Given the description of an element on the screen output the (x, y) to click on. 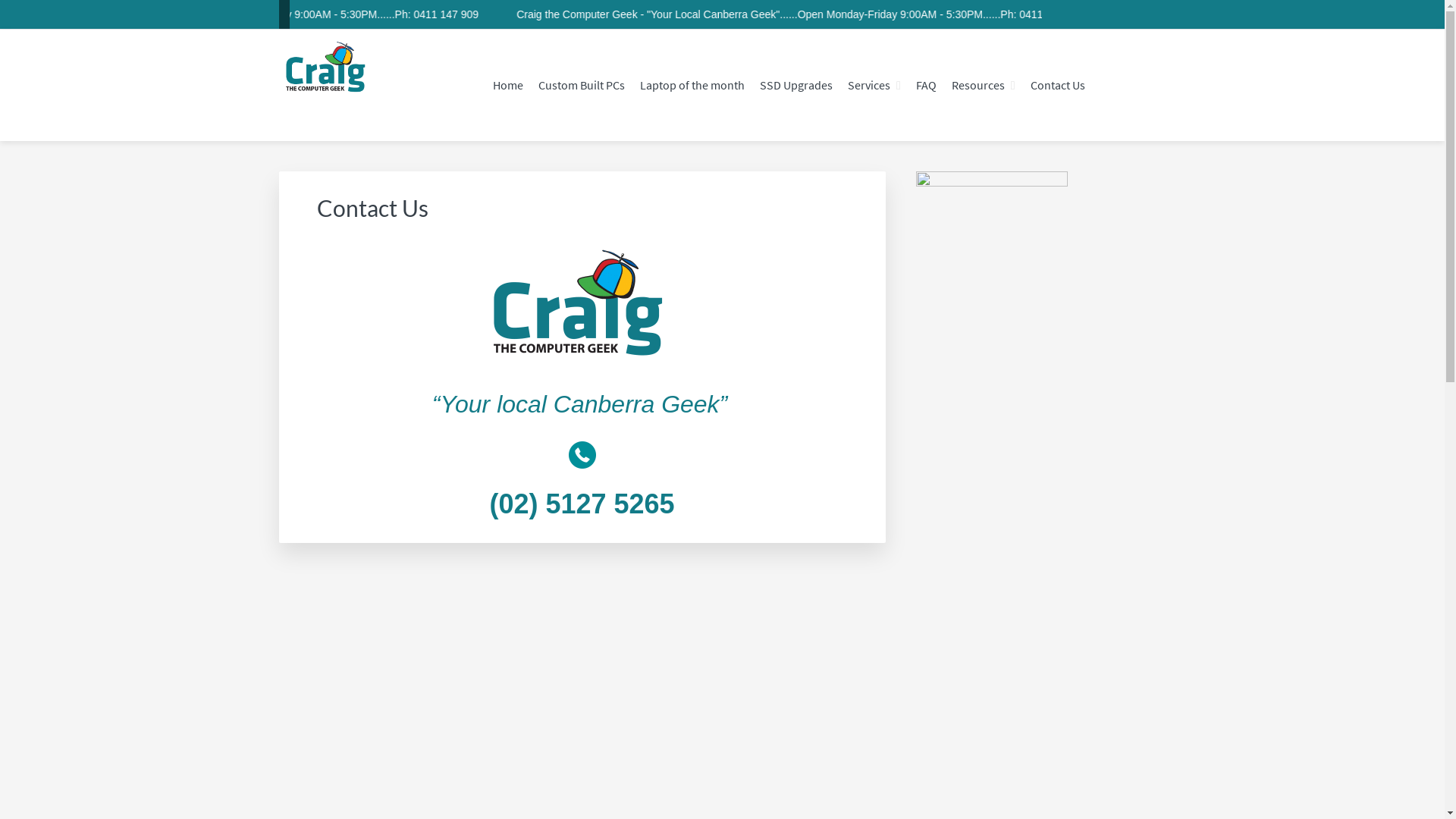
Laptop of the month Element type: text (692, 84)
Home Element type: text (507, 84)
Skip to primary navigation Element type: text (0, 0)
Resources Element type: text (983, 85)
Contact Us Element type: text (1057, 84)
Custom Built PCs Element type: text (581, 84)
FAQ Element type: text (926, 84)
SSD Upgrades Element type: text (796, 84)
Services Element type: text (874, 85)
CRAIG THE COMPUTER GEEK Element type: text (351, 165)
